Given the description of an element on the screen output the (x, y) to click on. 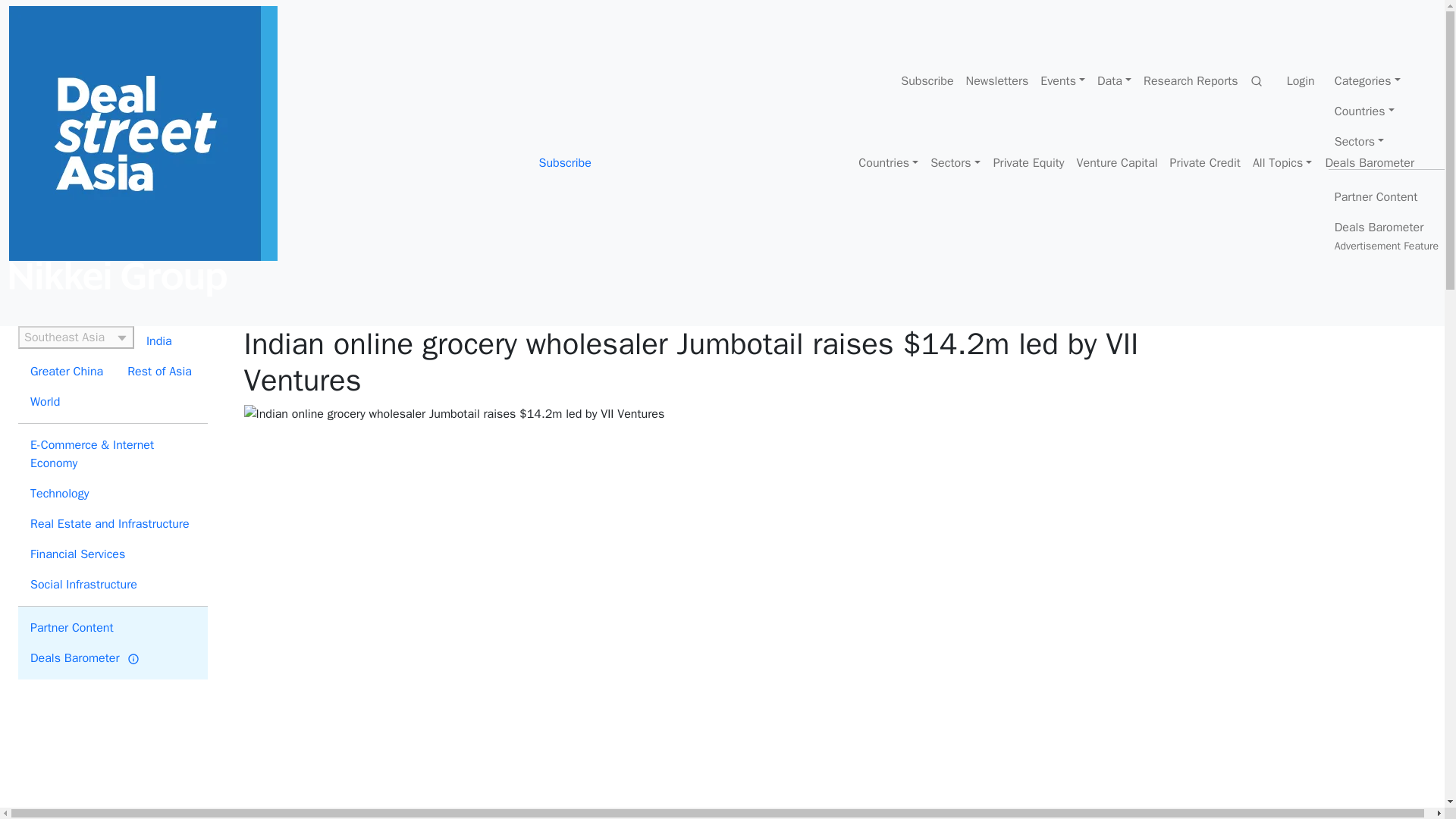
Sectors (1385, 141)
Login (1300, 80)
Southeast Asia (75, 336)
All Topics (1282, 163)
Data (1113, 80)
Events (1061, 80)
Deals Barometer (1370, 163)
Categories (1385, 80)
Venture Capital (1116, 163)
Countries (1385, 236)
Partner Content (1385, 110)
Sectors (1385, 196)
Private Equity (954, 163)
Private Credit (1028, 163)
